Given the description of an element on the screen output the (x, y) to click on. 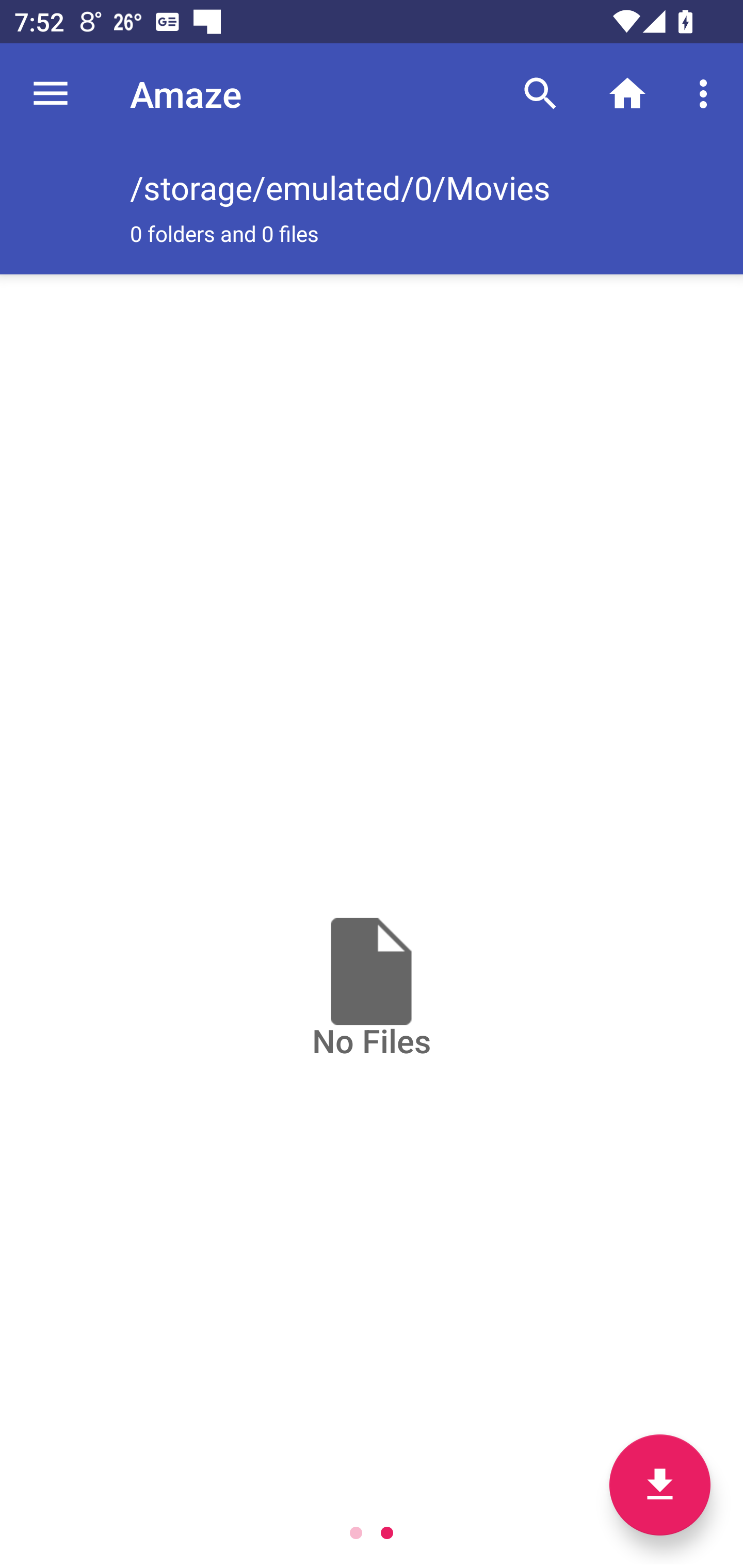
Navigate up (50, 93)
Search (540, 93)
Home (626, 93)
More options (706, 93)
